Given the description of an element on the screen output the (x, y) to click on. 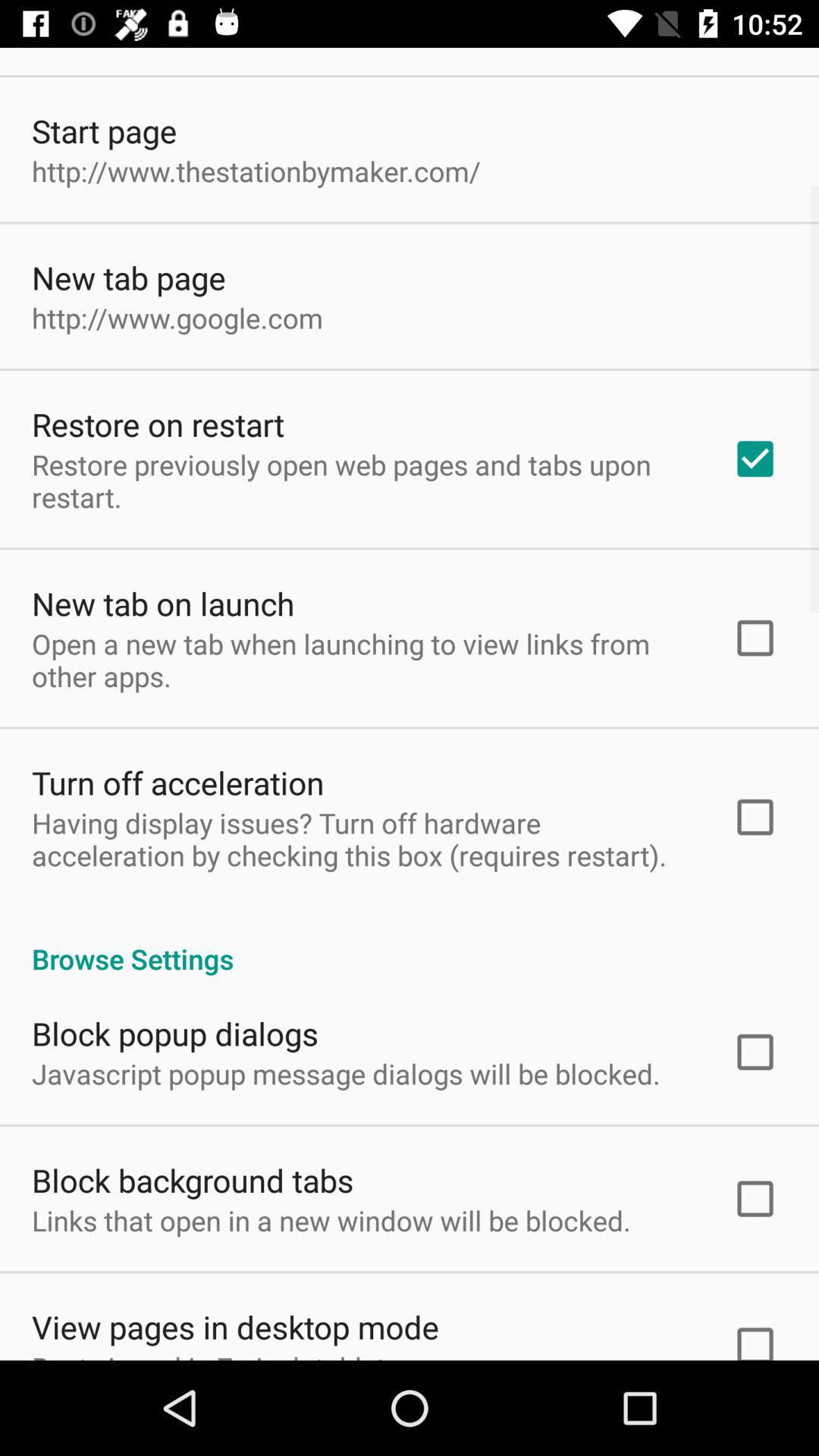
choose item below having display issues icon (409, 942)
